Given the description of an element on the screen output the (x, y) to click on. 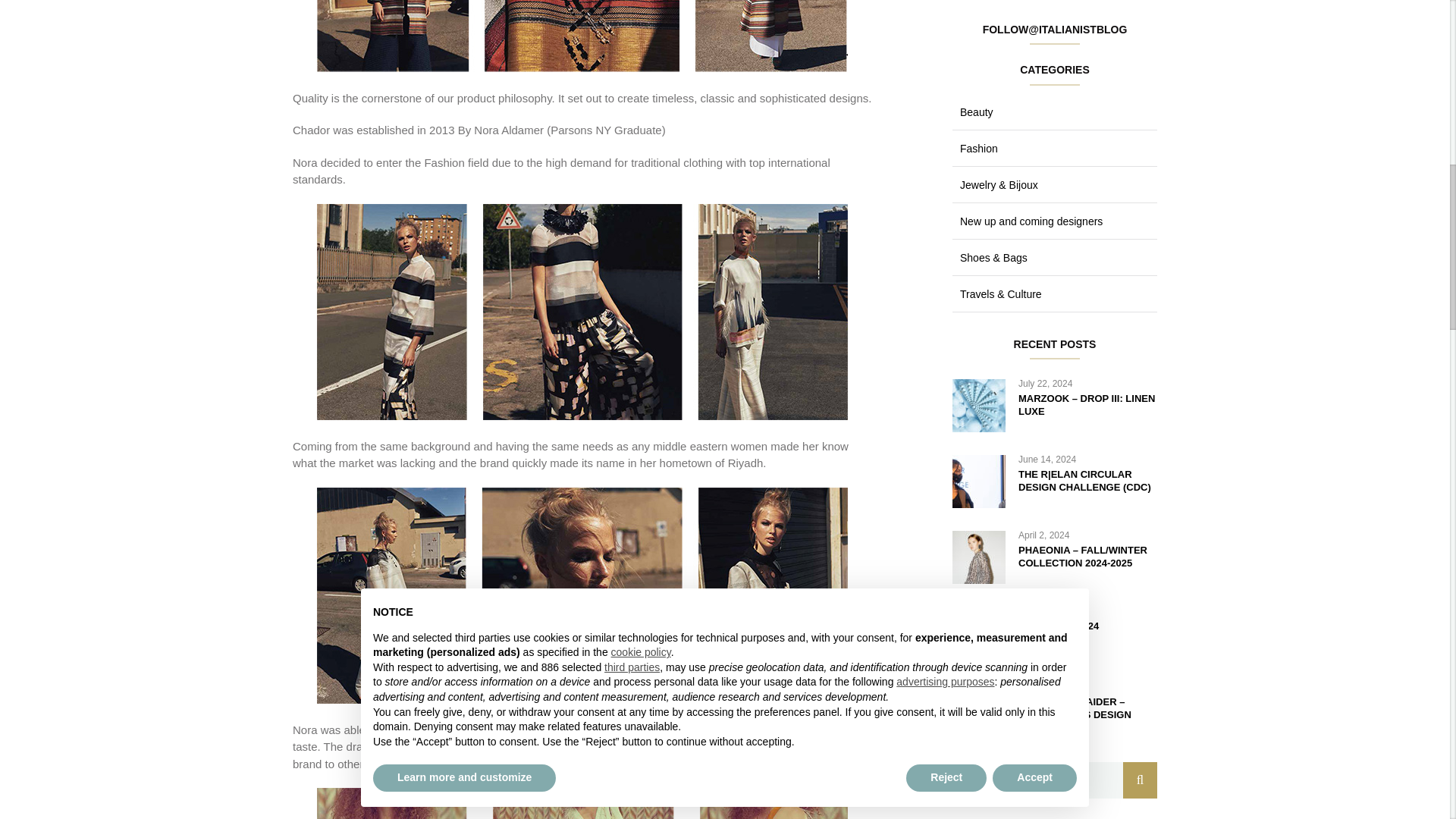
Search for: (1054, 780)
